Given the description of an element on the screen output the (x, y) to click on. 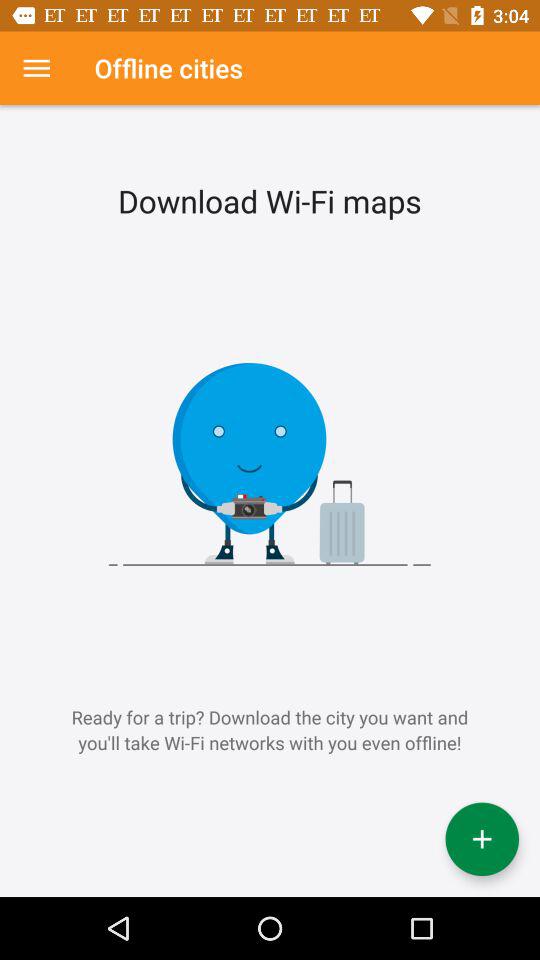
launch icon at the bottom right corner (482, 839)
